Given the description of an element on the screen output the (x, y) to click on. 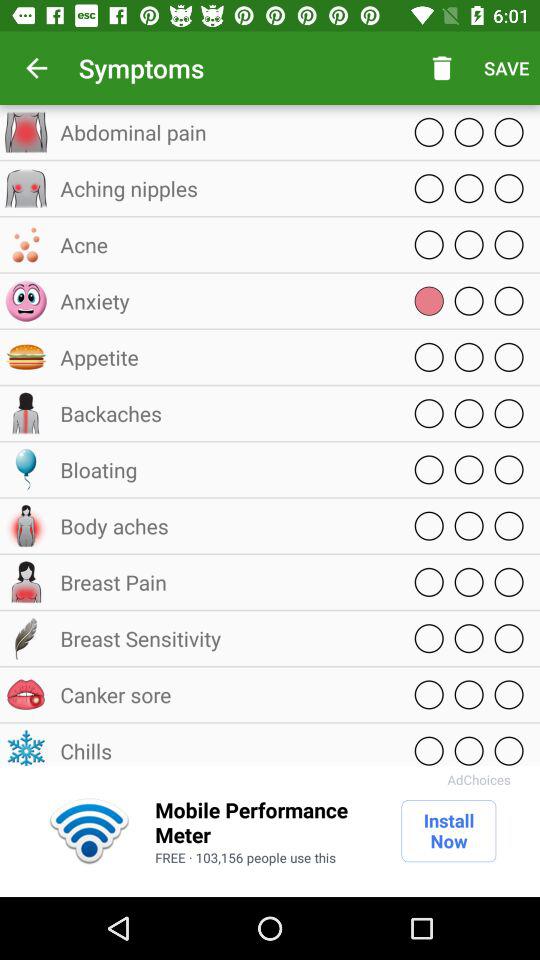
open icon next to the symptoms (36, 68)
